Given the description of an element on the screen output the (x, y) to click on. 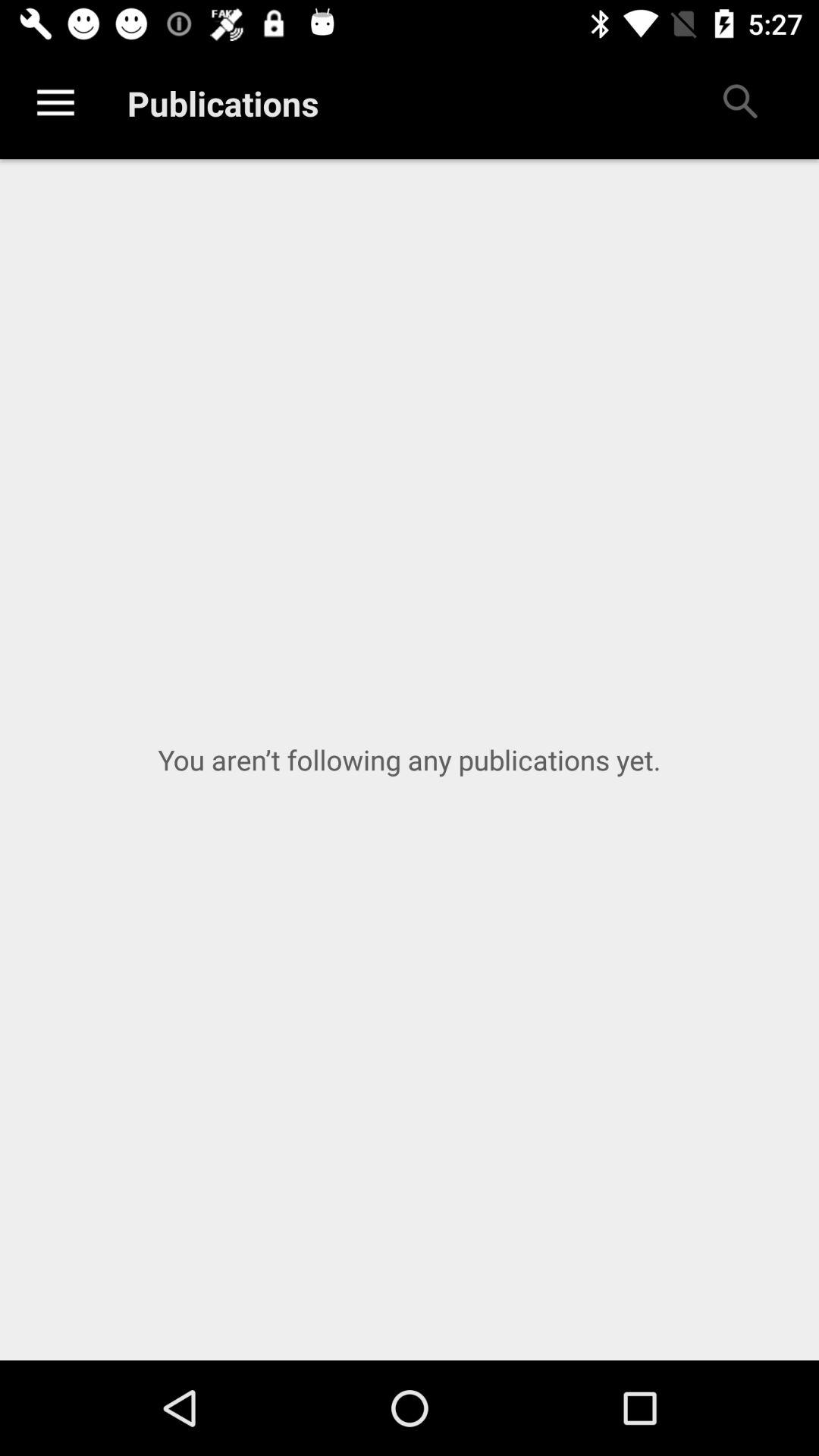
press item to the right of the publications icon (739, 103)
